Given the description of an element on the screen output the (x, y) to click on. 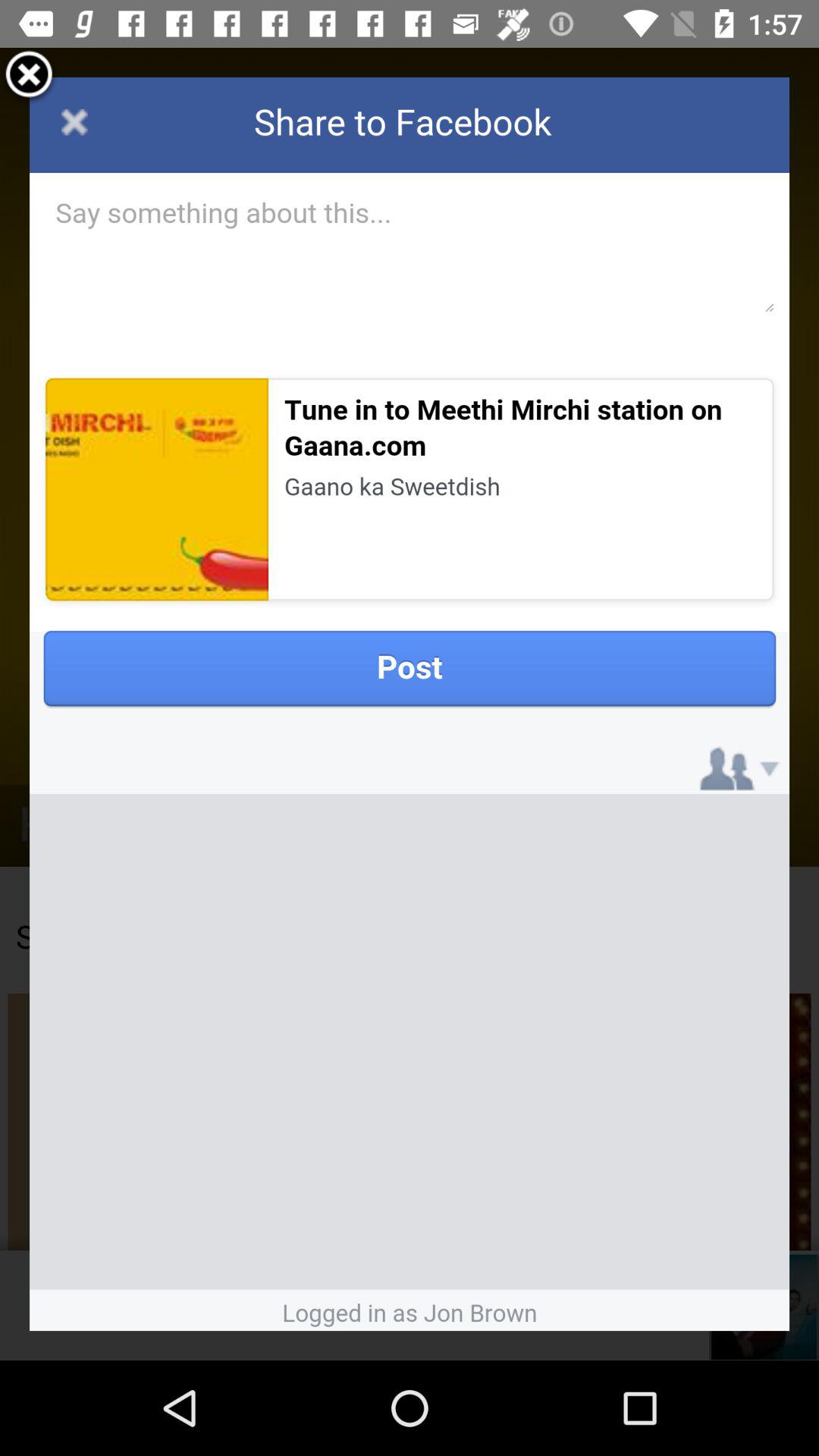
exit (29, 76)
